Given the description of an element on the screen output the (x, y) to click on. 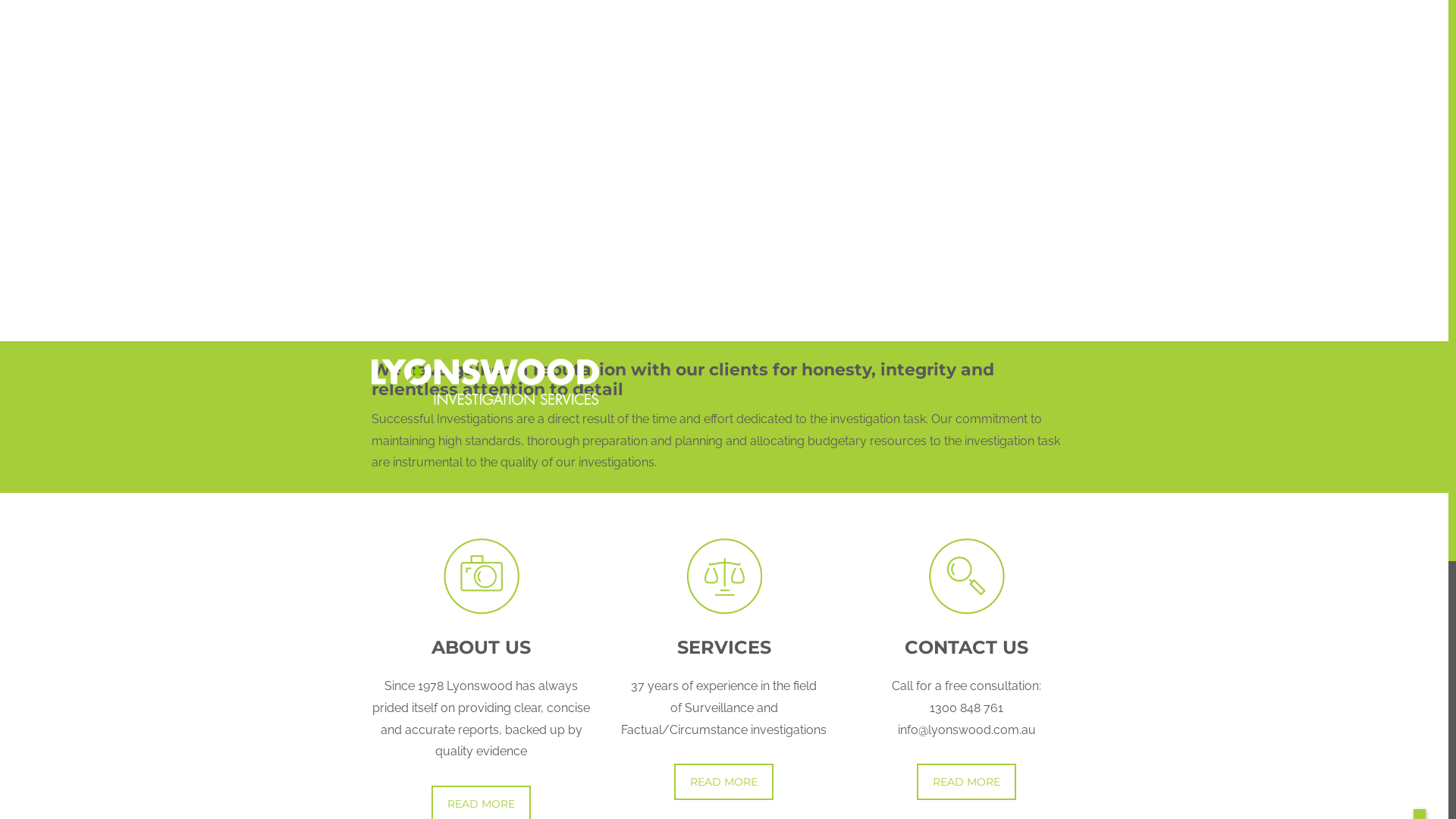
ABOUT US Element type: text (793, 77)
READ MORE Element type: text (723, 781)
CAREERS Element type: text (945, 77)
READ MORE Element type: text (966, 781)
info@lyonswood.com.au Element type: text (693, 17)
info@lyonswood.com.au Element type: text (966, 729)
SERVICES Element type: text (871, 77)
HOME Element type: text (727, 77)
CONTACT US Element type: text (1028, 77)
